Given the description of an element on the screen output the (x, y) to click on. 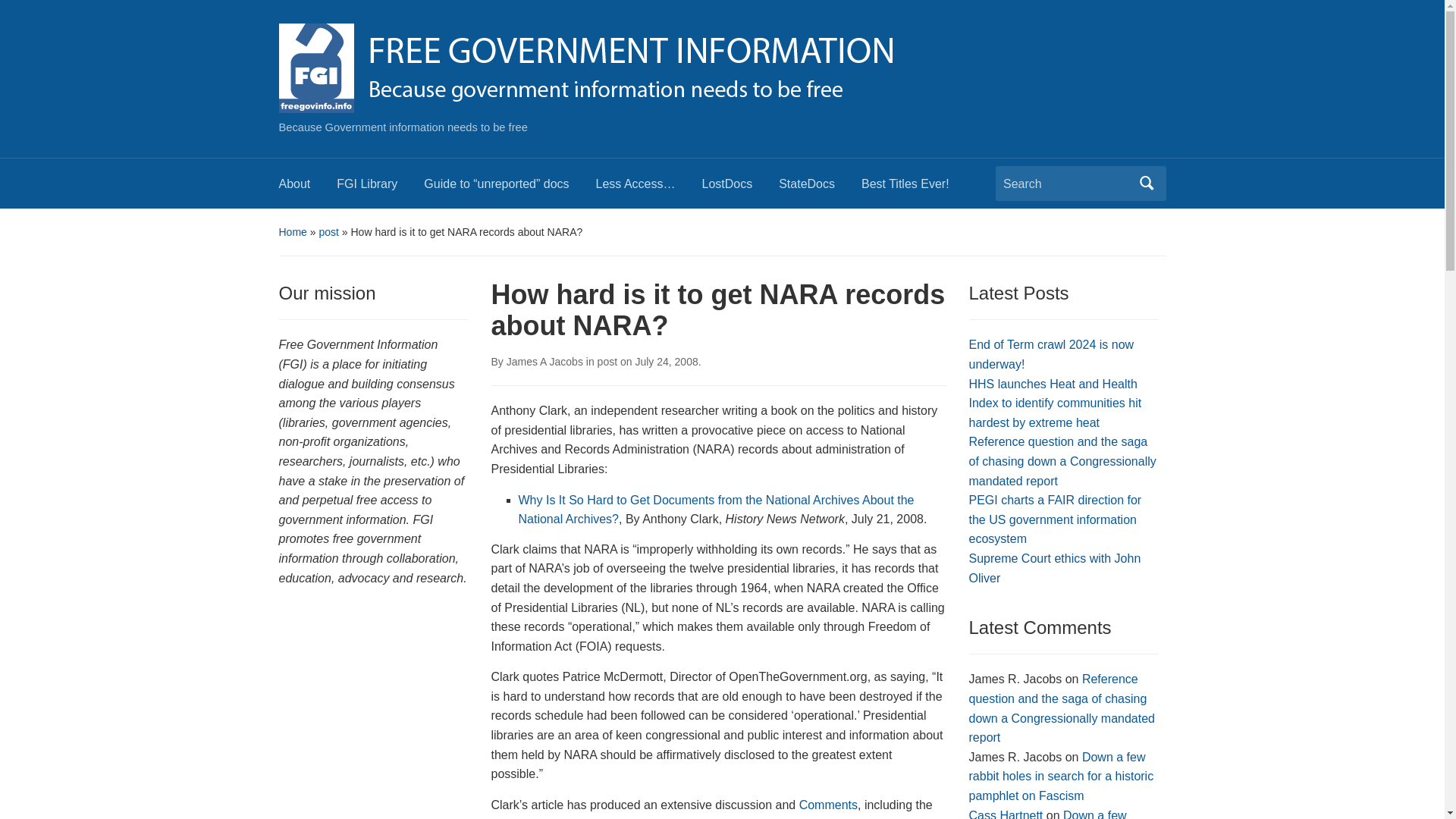
post (606, 361)
post (327, 232)
View all posts by James A Jacobs (544, 361)
StateDocs (819, 188)
About (308, 188)
LostDocs (739, 188)
James A Jacobs (544, 361)
Comments (828, 804)
FGI Library (379, 188)
4:21 pm (665, 361)
July 24, 2008 (665, 361)
Best Titles Ever! (918, 188)
NARA Response (537, 818)
Home (293, 232)
